Given the description of an element on the screen output the (x, y) to click on. 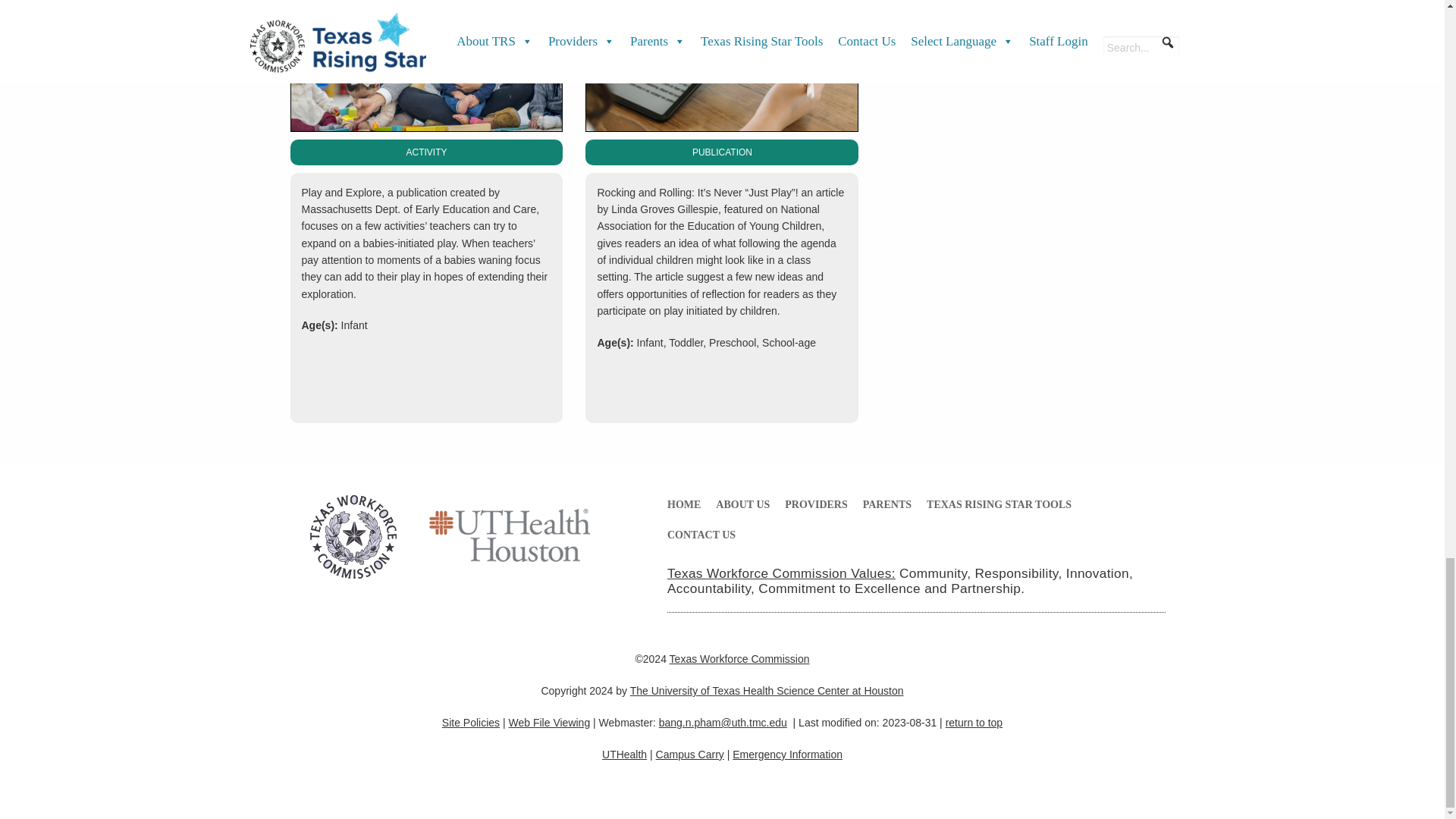
The University of Texas Health Science Center (507, 539)
Texas Workforce Commission (352, 539)
